Given the description of an element on the screen output the (x, y) to click on. 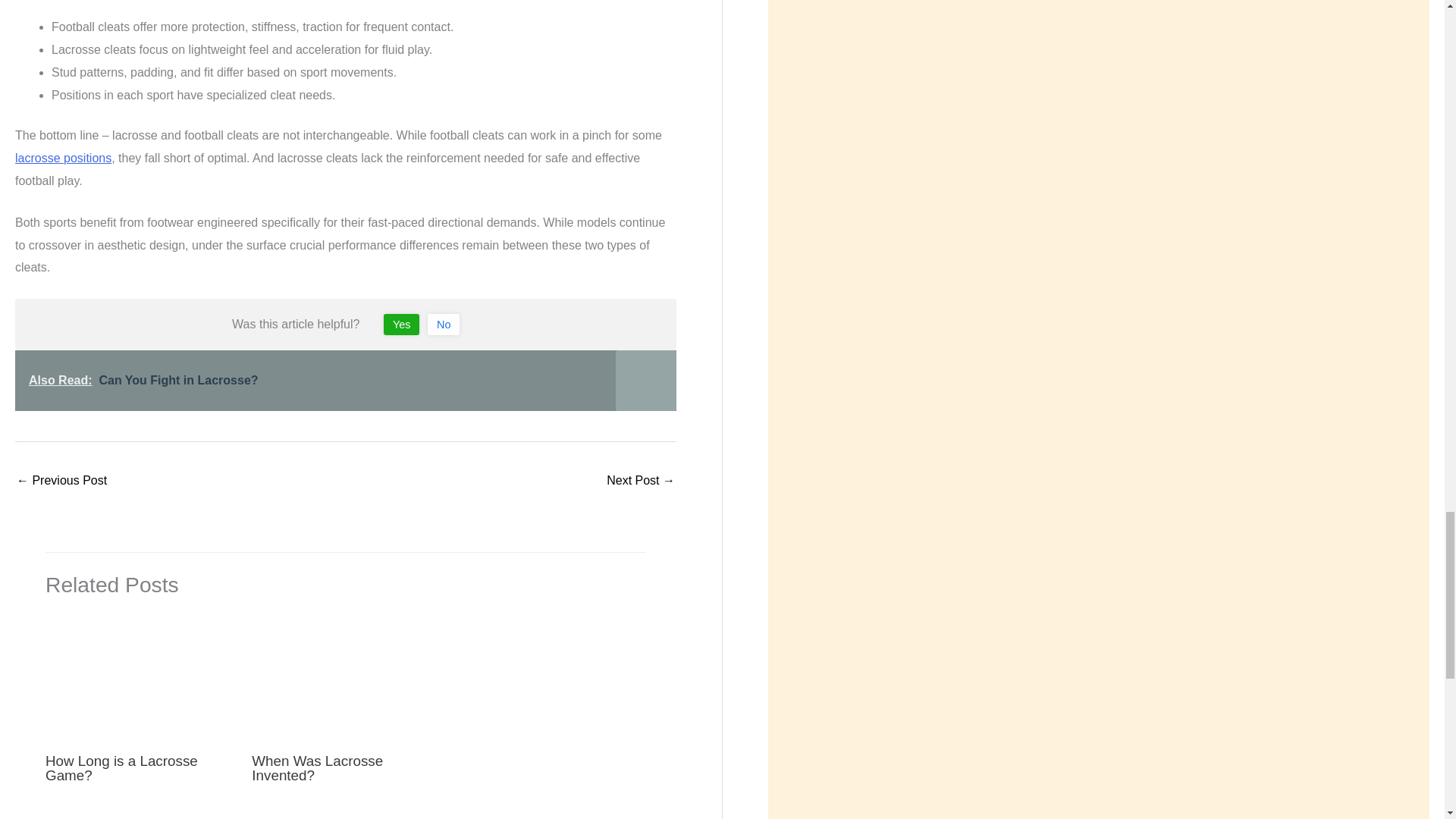
Also Read:  Can You Fight in Lacrosse? (345, 380)
What are the Positions in Lacrosse? (61, 481)
lacrosse positions (63, 157)
How Long is a Lacrosse Game? (121, 767)
